Given the description of an element on the screen output the (x, y) to click on. 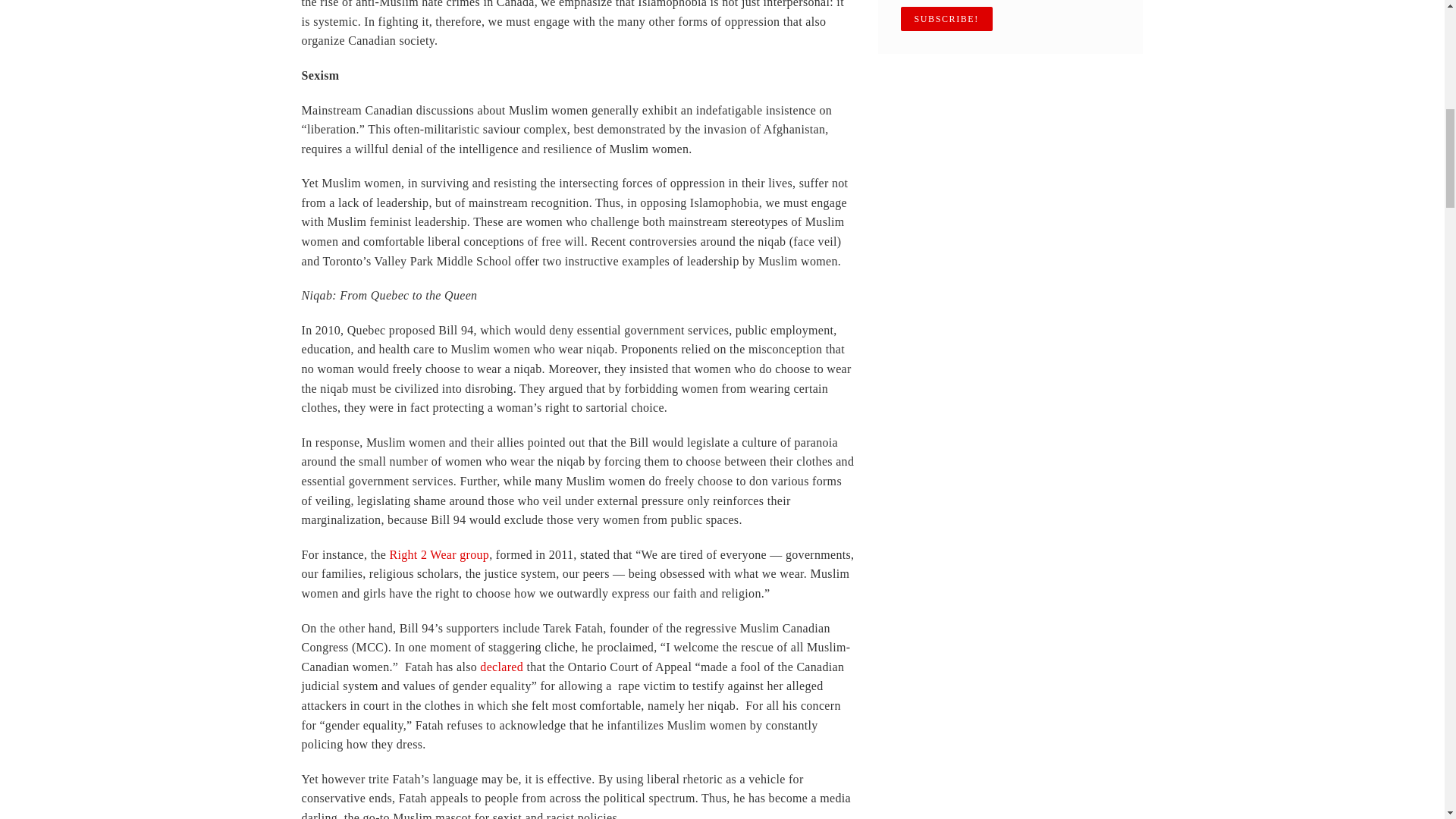
Subscribe! (946, 18)
